Given the description of an element on the screen output the (x, y) to click on. 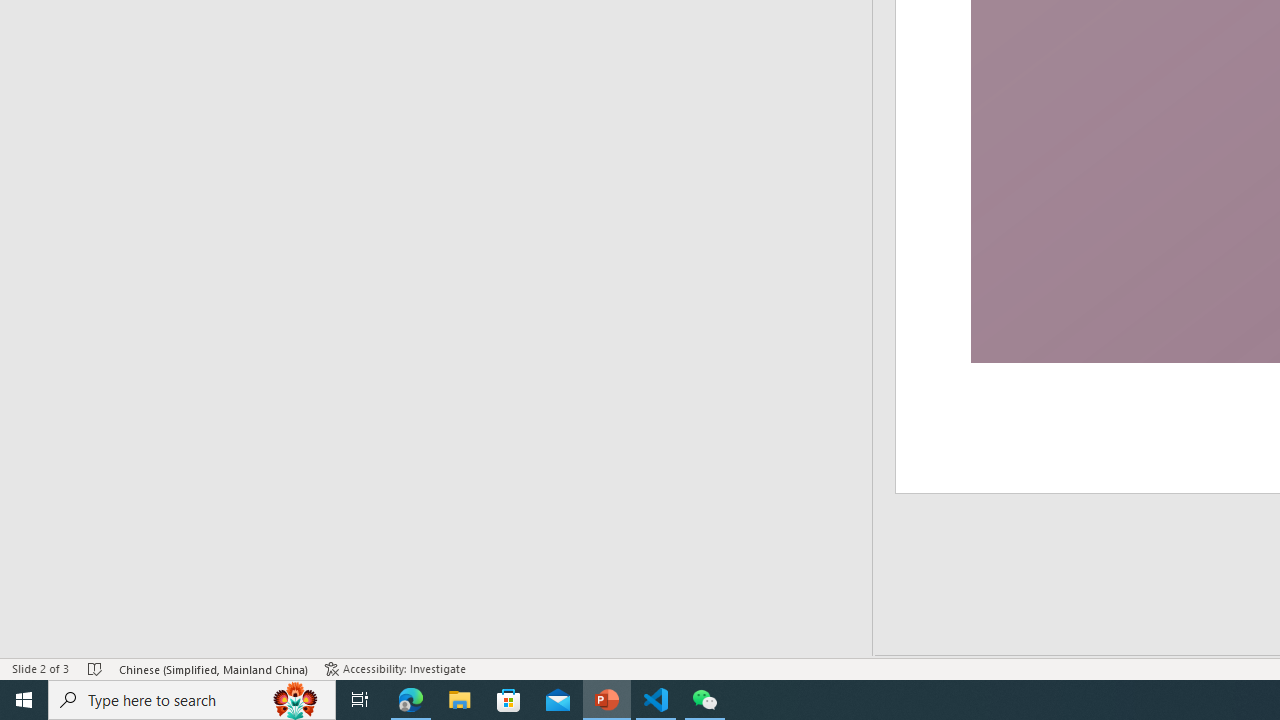
Spell Check No Errors (95, 668)
Accessibility Checker Accessibility: Investigate (395, 668)
